Given the description of an element on the screen output the (x, y) to click on. 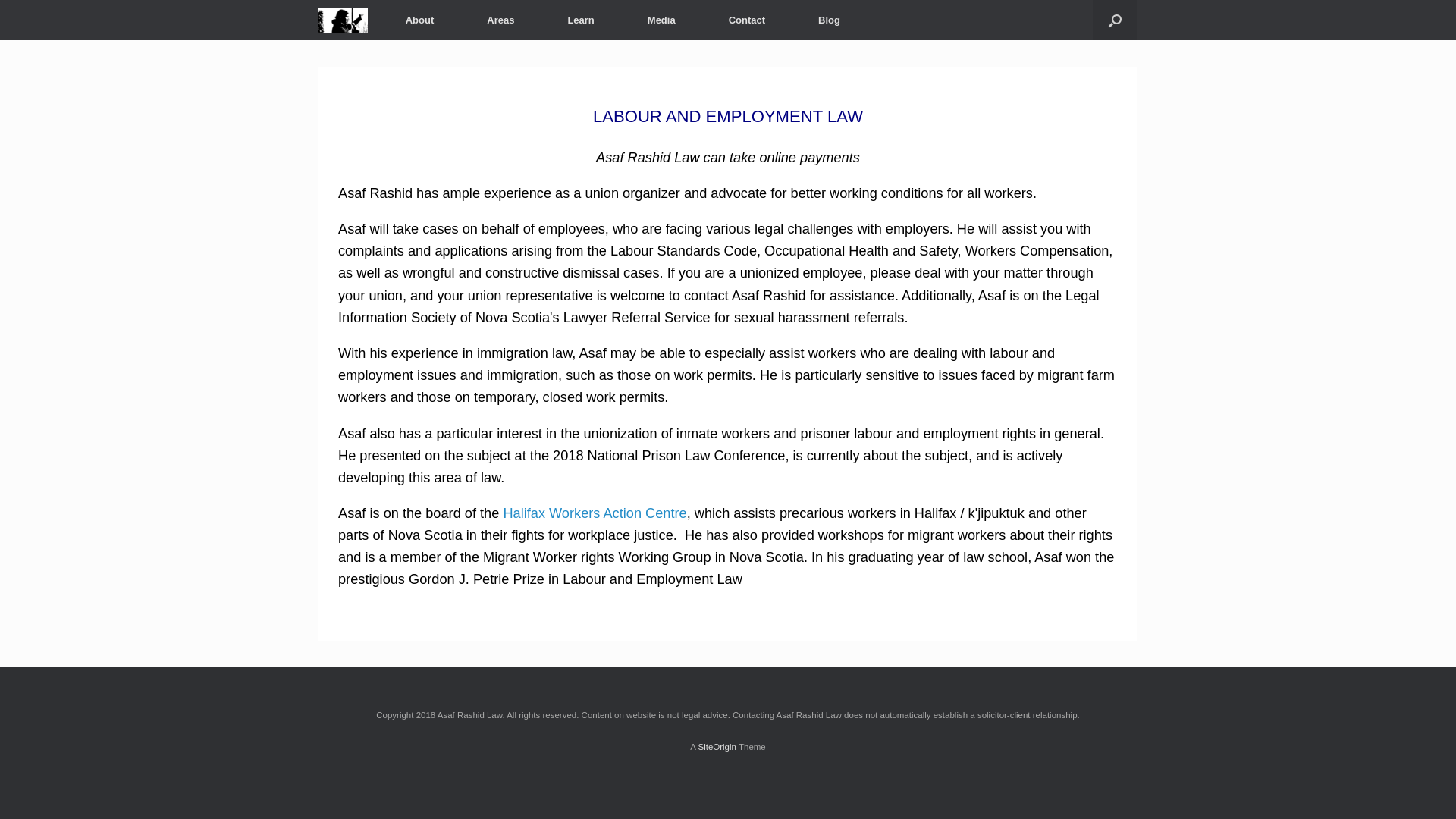
Contact Element type: text (746, 20)
About Element type: text (420, 20)
Learn Element type: text (580, 20)
Halifax Workers Action Centre Element type: text (594, 512)
Media Element type: text (661, 20)
Blog Element type: text (828, 20)
Areas Element type: text (500, 20)
SiteOrigin Element type: text (716, 746)
Asaf Rashid Law Element type: hover (342, 20)
